Given the description of an element on the screen output the (x, y) to click on. 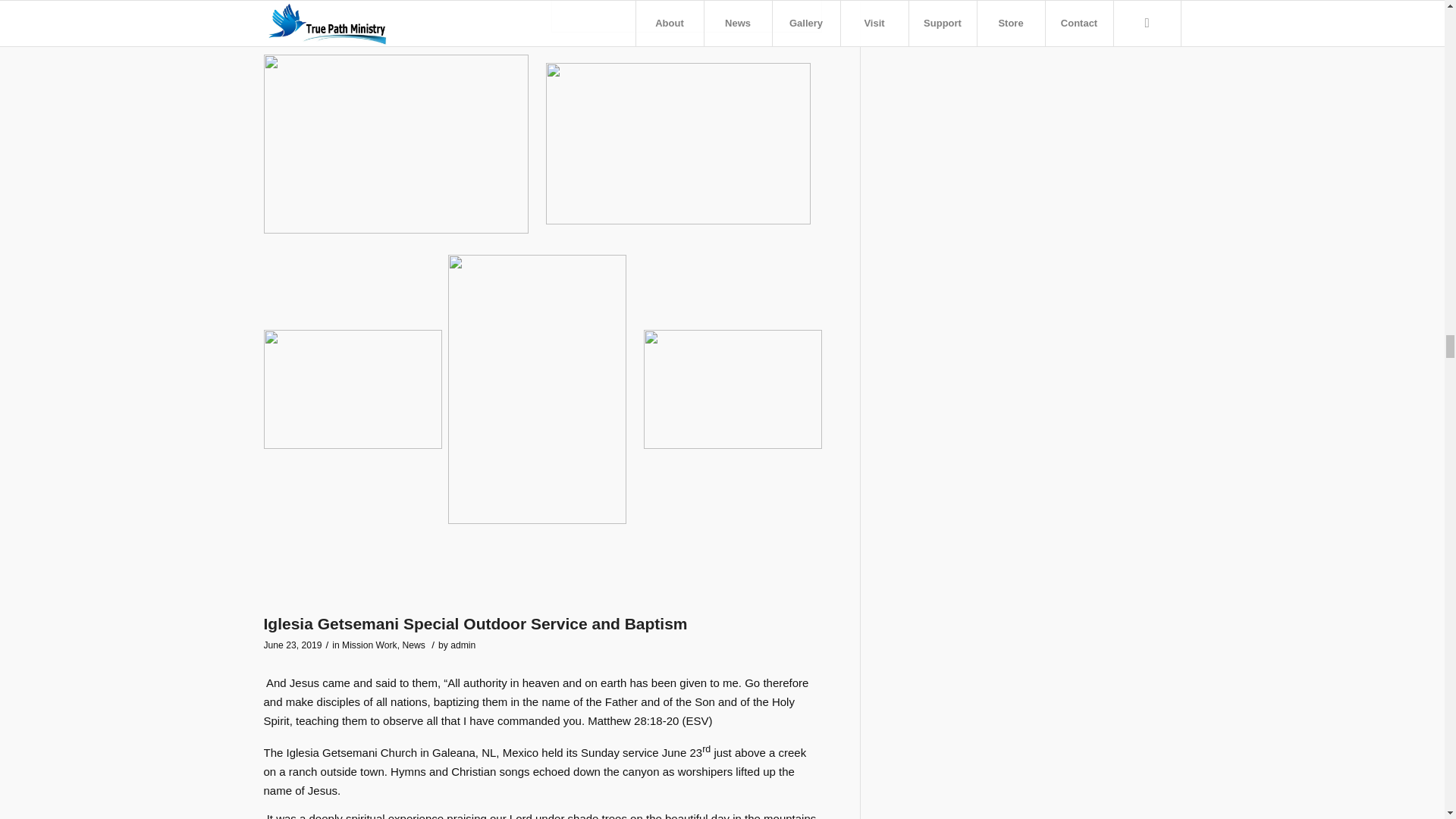
Mission Work (369, 644)
Iglesia Getsemani Special Outdoor Service and Baptism (475, 623)
News (413, 644)
Posts by admin (462, 644)
admin (462, 644)
